Given the description of an element on the screen output the (x, y) to click on. 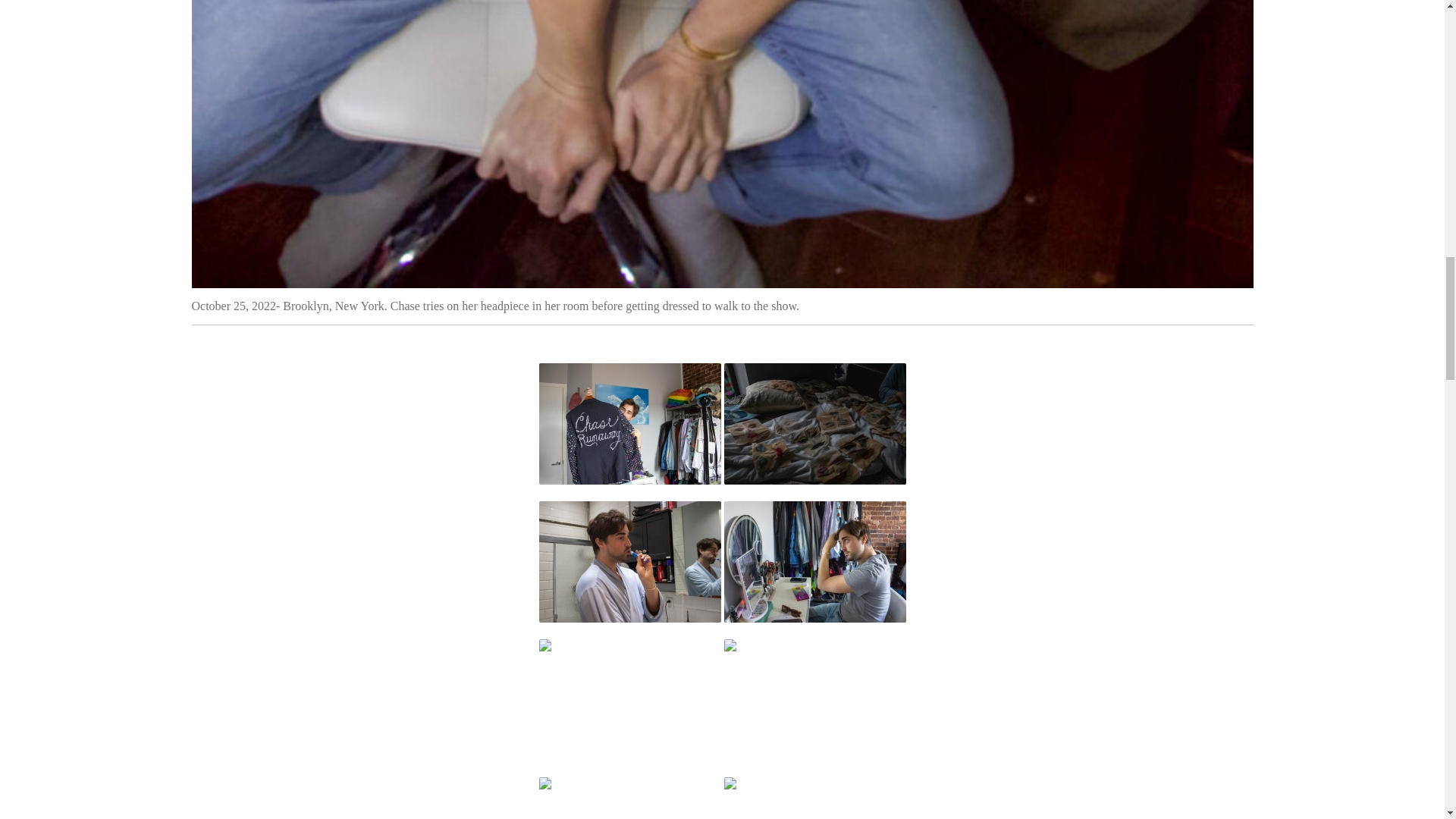
Midterm Photo 4 (629, 423)
Midterm Photo 1 (814, 423)
